Given the description of an element on the screen output the (x, y) to click on. 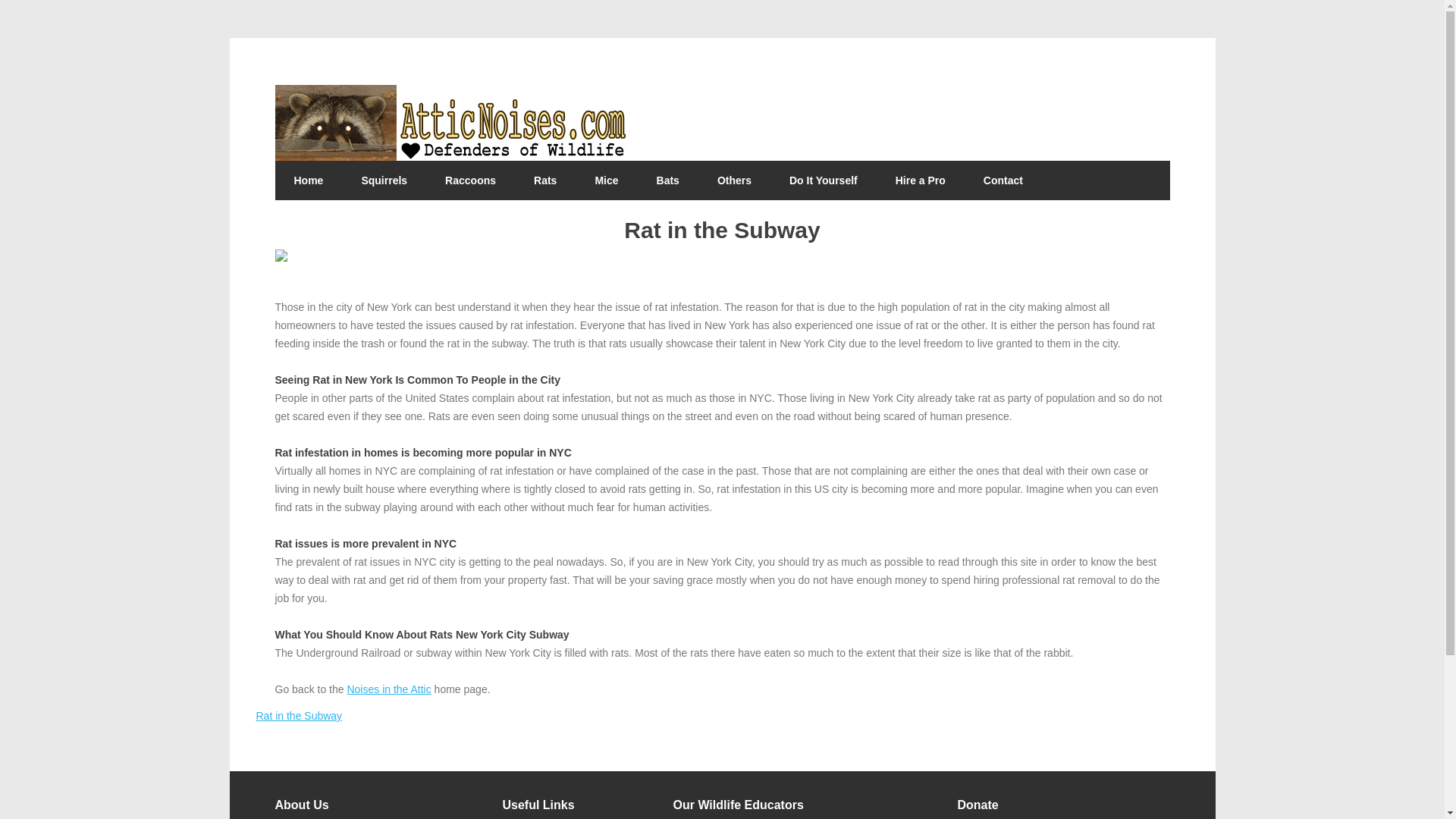
Noises in the Attic (388, 689)
Do It Yourself (823, 179)
Others (734, 179)
Rat in the Subway (299, 715)
Contact (1002, 179)
Bats (667, 179)
Raccoons (470, 179)
Squirrels (384, 179)
Mice (606, 179)
Home (308, 179)
Rats (545, 179)
Hire a Pro (919, 179)
